Given the description of an element on the screen output the (x, y) to click on. 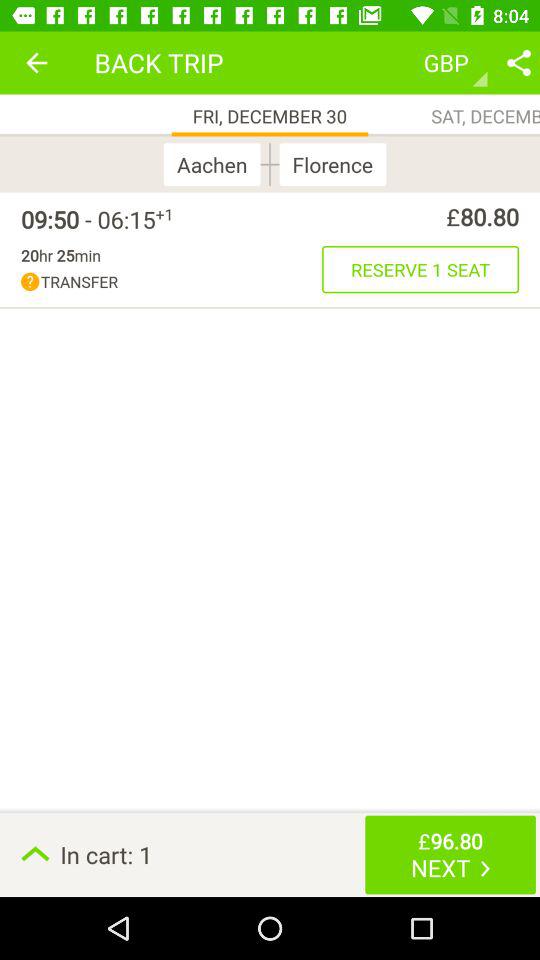
select item below fri, december 30 (216, 164)
